Given the description of an element on the screen output the (x, y) to click on. 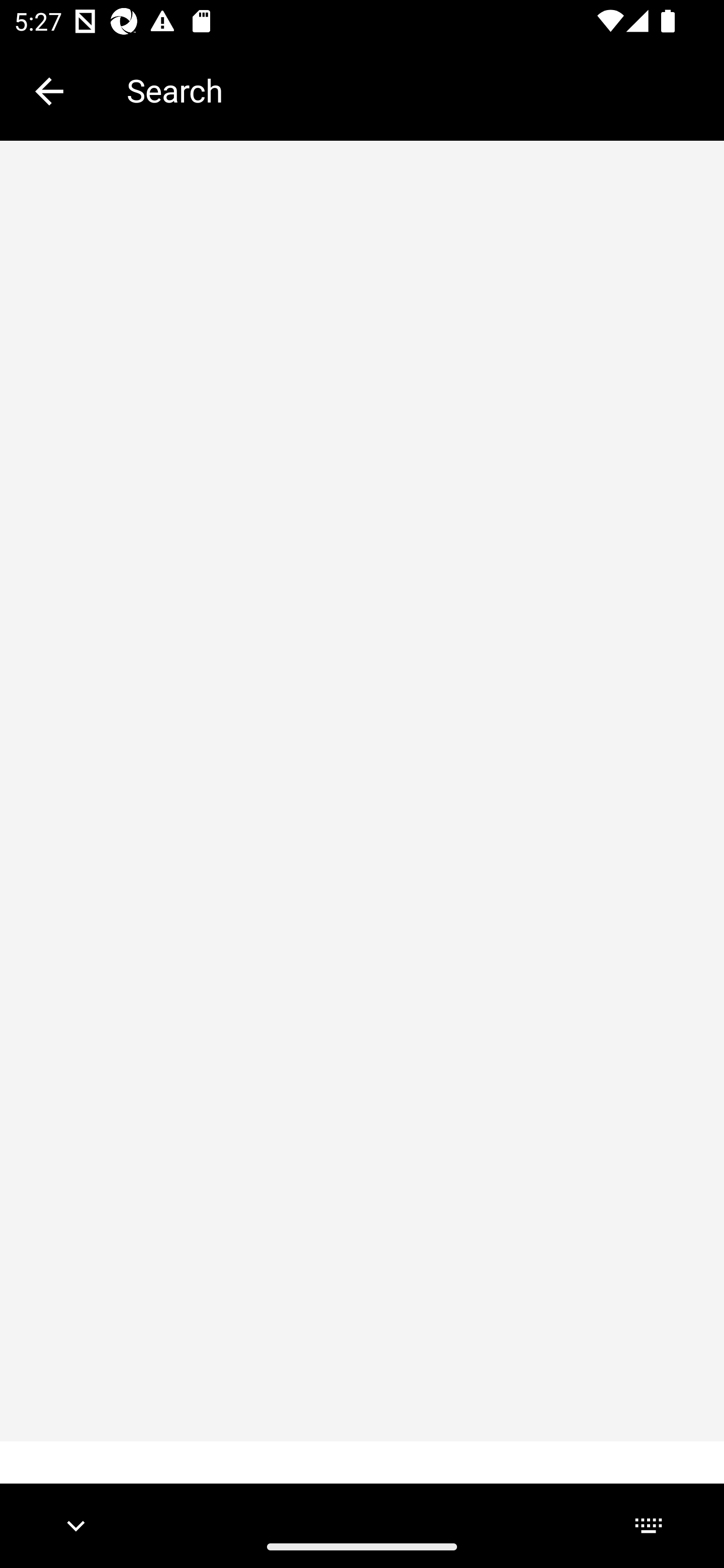
Collapse (49, 91)
Search (411, 90)
